Given the description of an element on the screen output the (x, y) to click on. 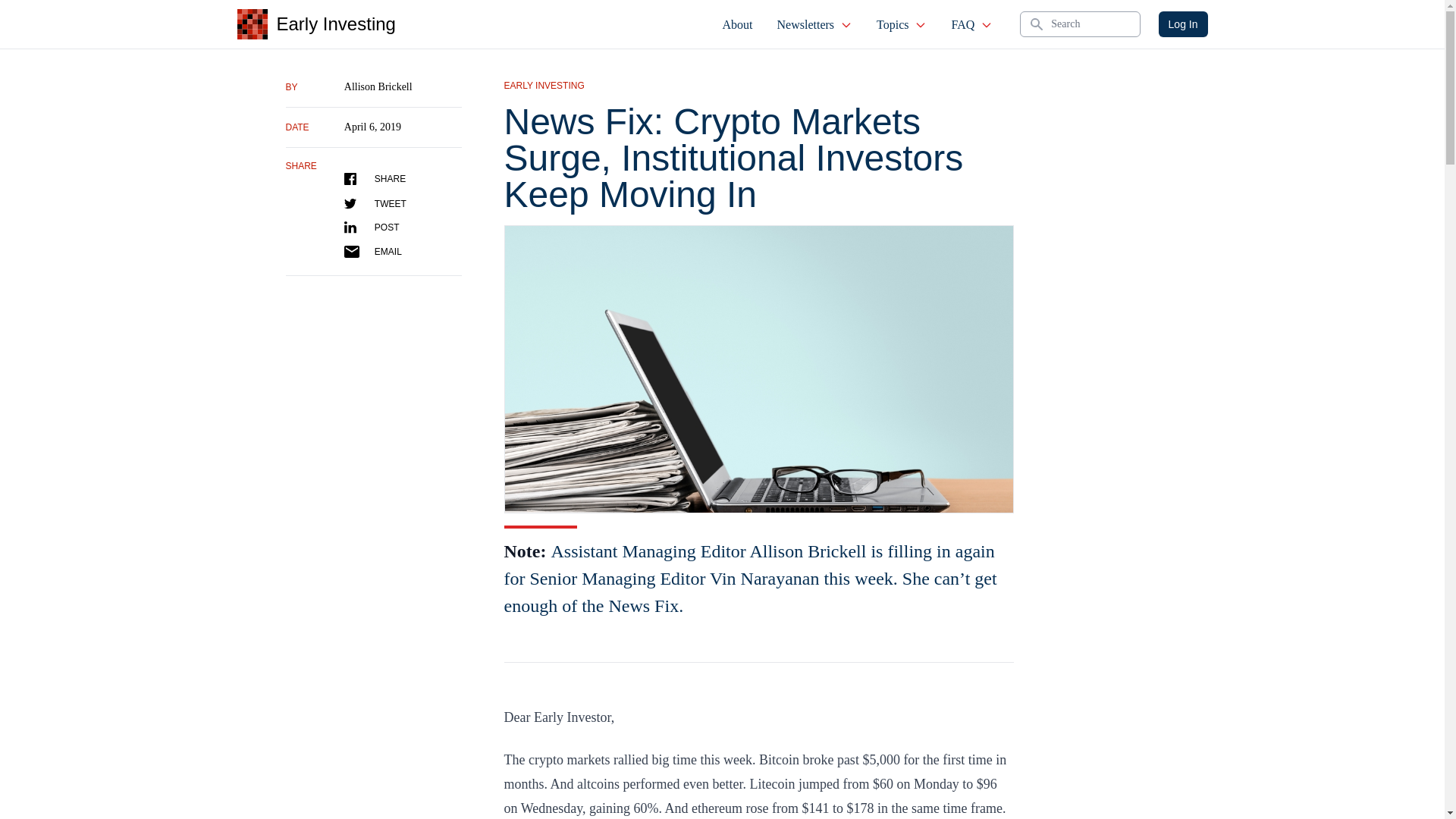
Early Investing (314, 24)
Newsletters (814, 24)
Topics (901, 24)
FAQ (971, 24)
SHARE (374, 178)
TWEET (374, 203)
Log In (1183, 23)
POST (370, 227)
EMAIL (372, 251)
Allison Brickell (377, 86)
